Given the description of an element on the screen output the (x, y) to click on. 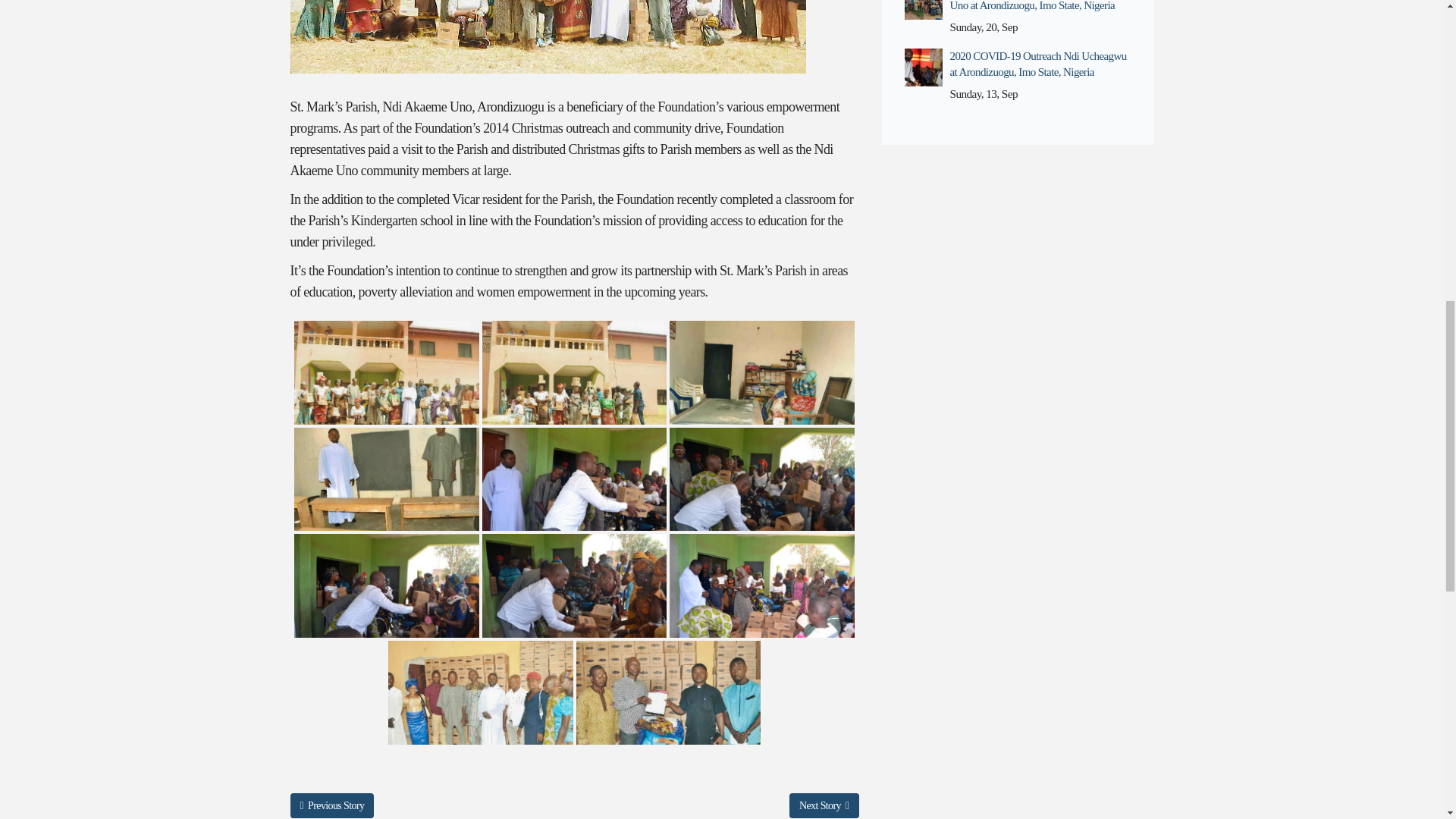
Foundation representative with Parish Priest (668, 692)
Completed office by the Foundation (761, 373)
Parishioners recieving gifts from the Foundation (761, 585)
